Given the description of an element on the screen output the (x, y) to click on. 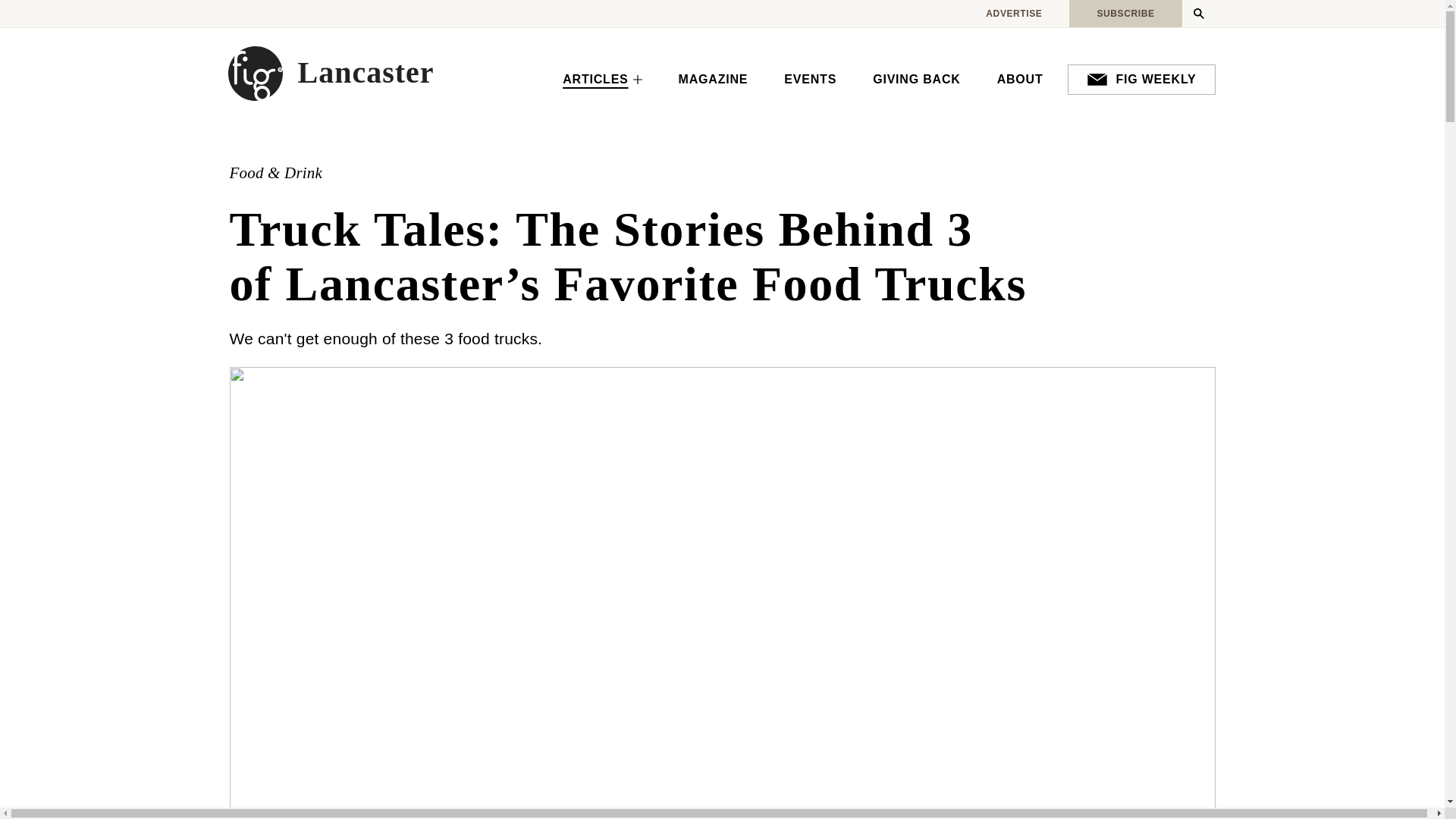
MAGAZINE (714, 79)
Lancaster (330, 72)
ABOUT (1019, 79)
FIG WEEKLY (1141, 79)
ADVERTISE (1013, 13)
ARTICLES (601, 79)
SUBSCRIBE (1124, 13)
GIVING BACK (916, 79)
EVENTS (809, 79)
